Given the description of an element on the screen output the (x, y) to click on. 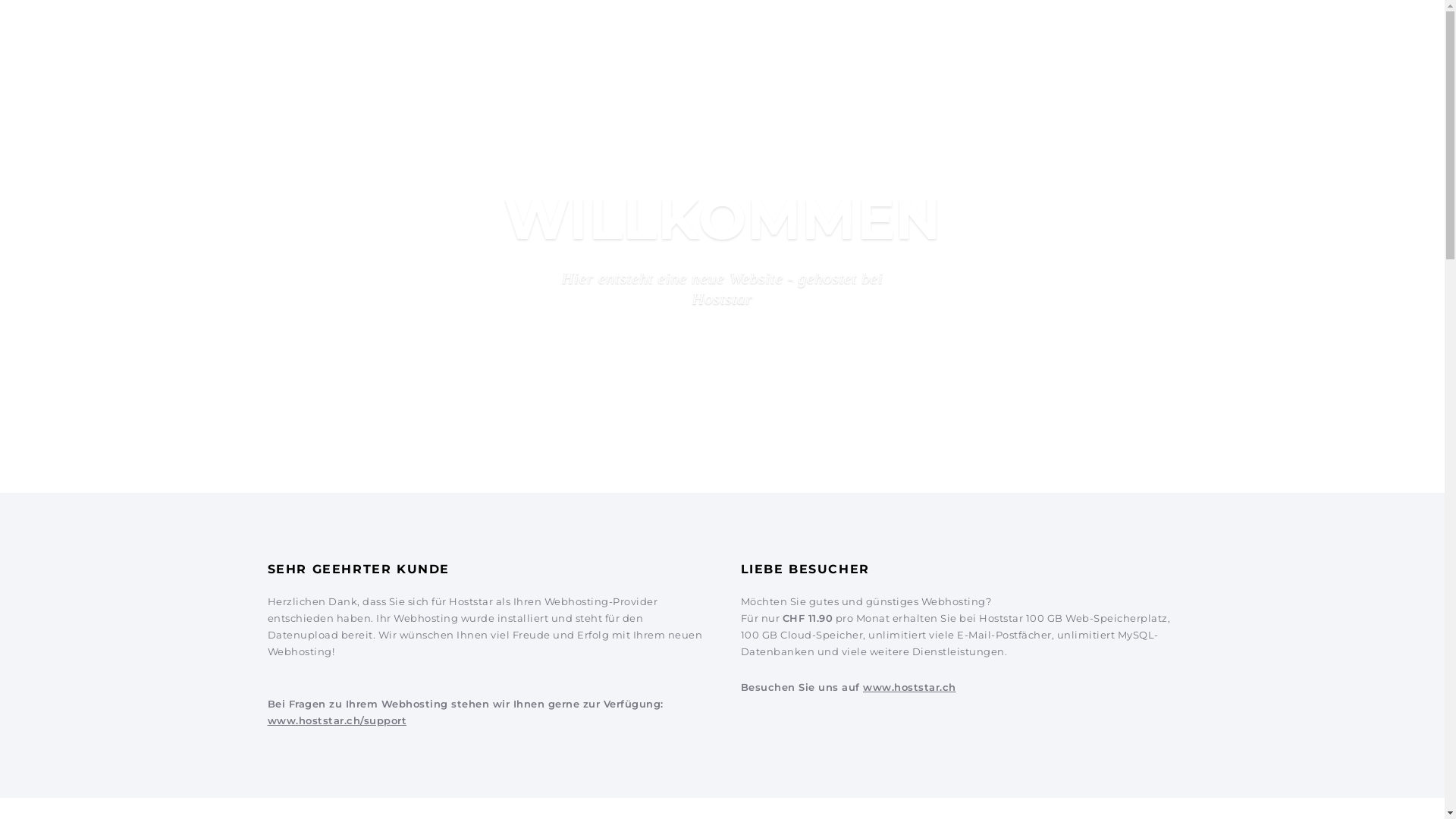
www.hoststar.ch/support Element type: text (336, 720)
www.hoststar.ch Element type: text (909, 686)
